Given the description of an element on the screen output the (x, y) to click on. 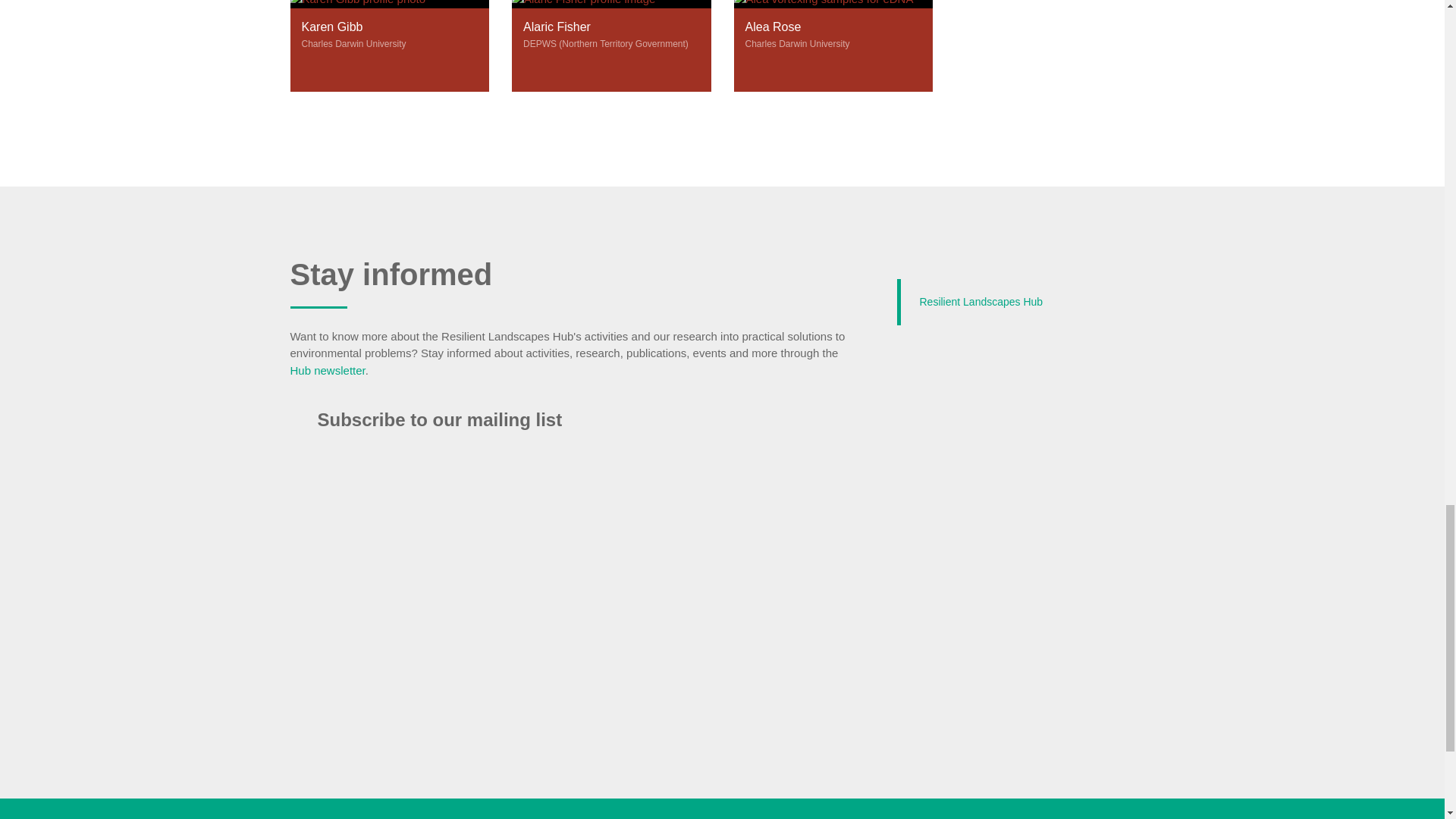
Alaric Fisher (611, 45)
Karen Gibb (389, 45)
Alea Rose (833, 45)
